Given the description of an element on the screen output the (x, y) to click on. 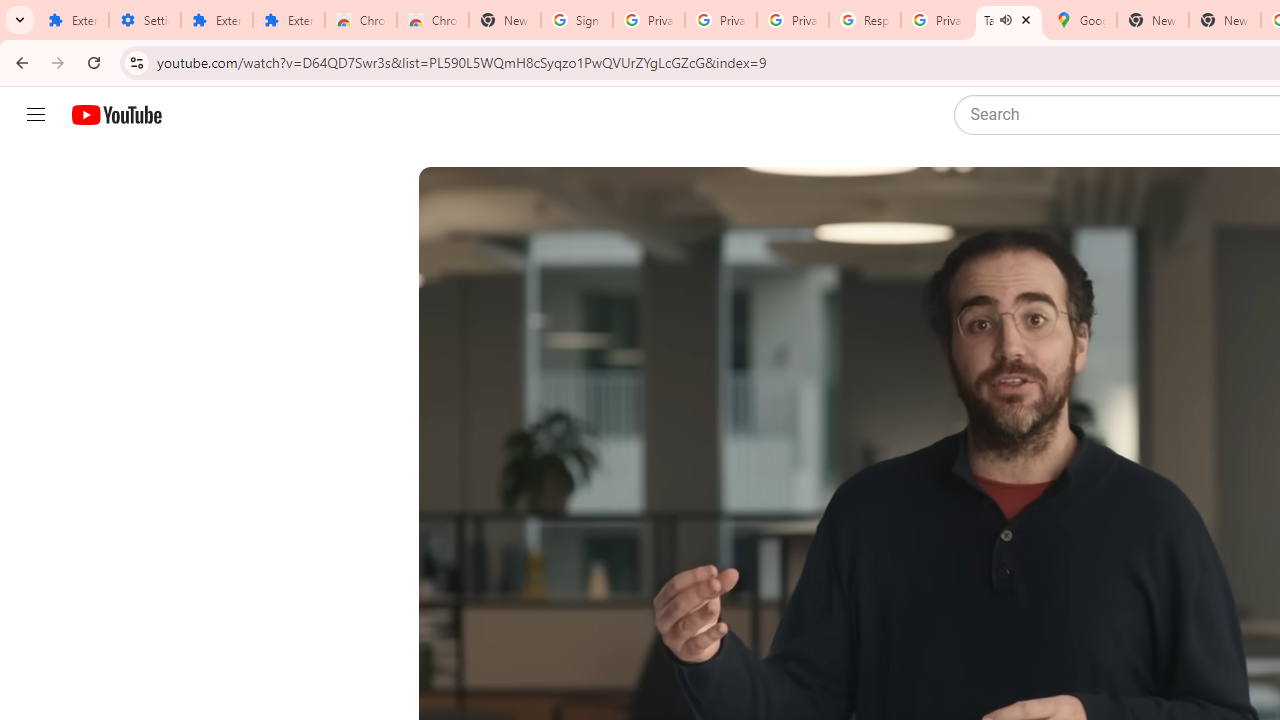
Settings (144, 20)
New Tab (1224, 20)
Sign in - Google Accounts (577, 20)
Extensions (72, 20)
Google Maps (1080, 20)
